Given the description of an element on the screen output the (x, y) to click on. 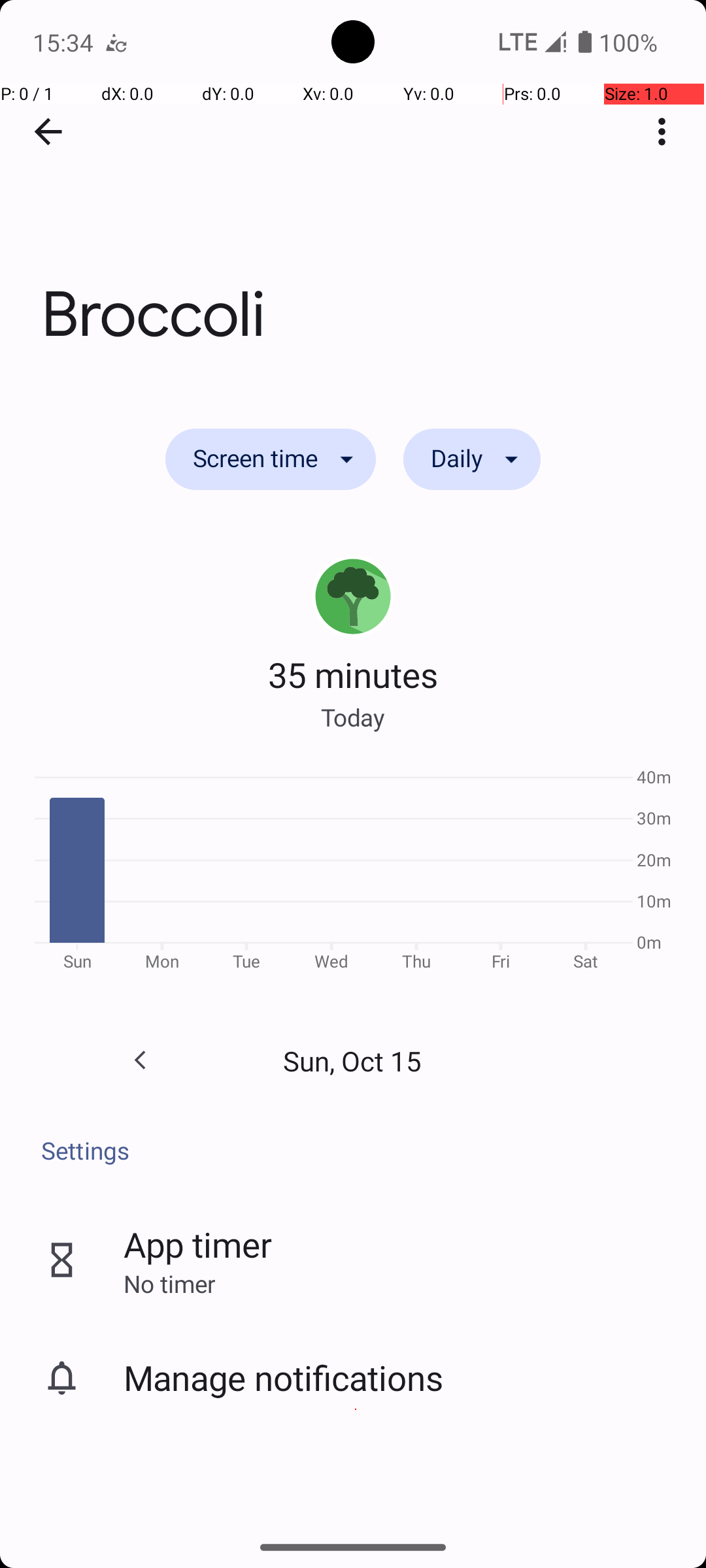
35 minutes Element type: android.widget.TextView (353, 674)
App timer Element type: android.widget.TextView (197, 1244)
No timer Element type: android.widget.TextView (169, 1283)
Manage notifications Element type: android.widget.TextView (283, 1377)
